Given the description of an element on the screen output the (x, y) to click on. 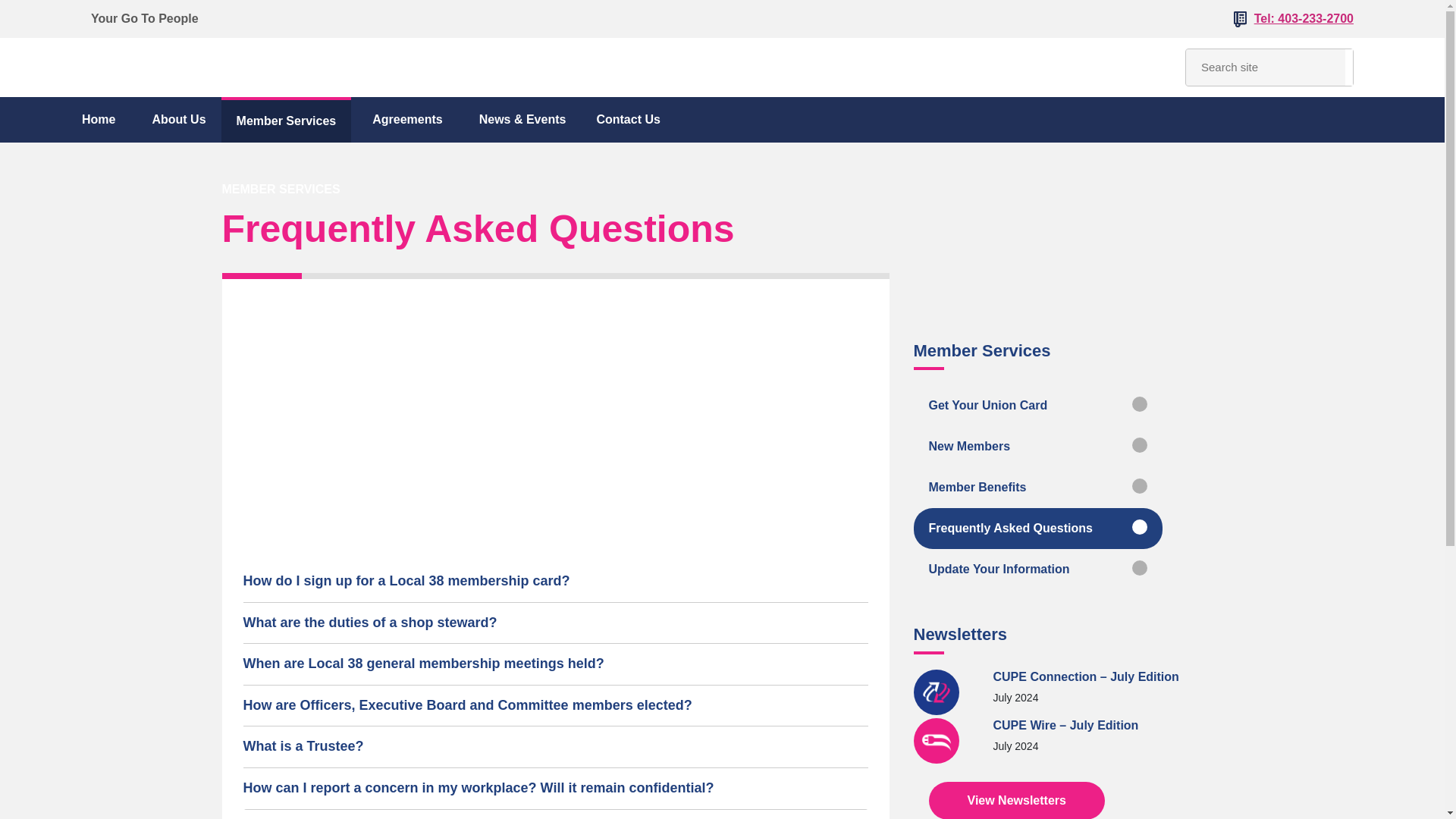
How do I sign up for a Local 38 membership card? (555, 581)
About Us (178, 119)
Member Services (285, 121)
New Members (1062, 445)
Agreements (407, 119)
What is a Trustee? (555, 746)
Tel: 403-233-2700 (1303, 18)
Home (97, 119)
Agreements (407, 119)
